Given the description of an element on the screen output the (x, y) to click on. 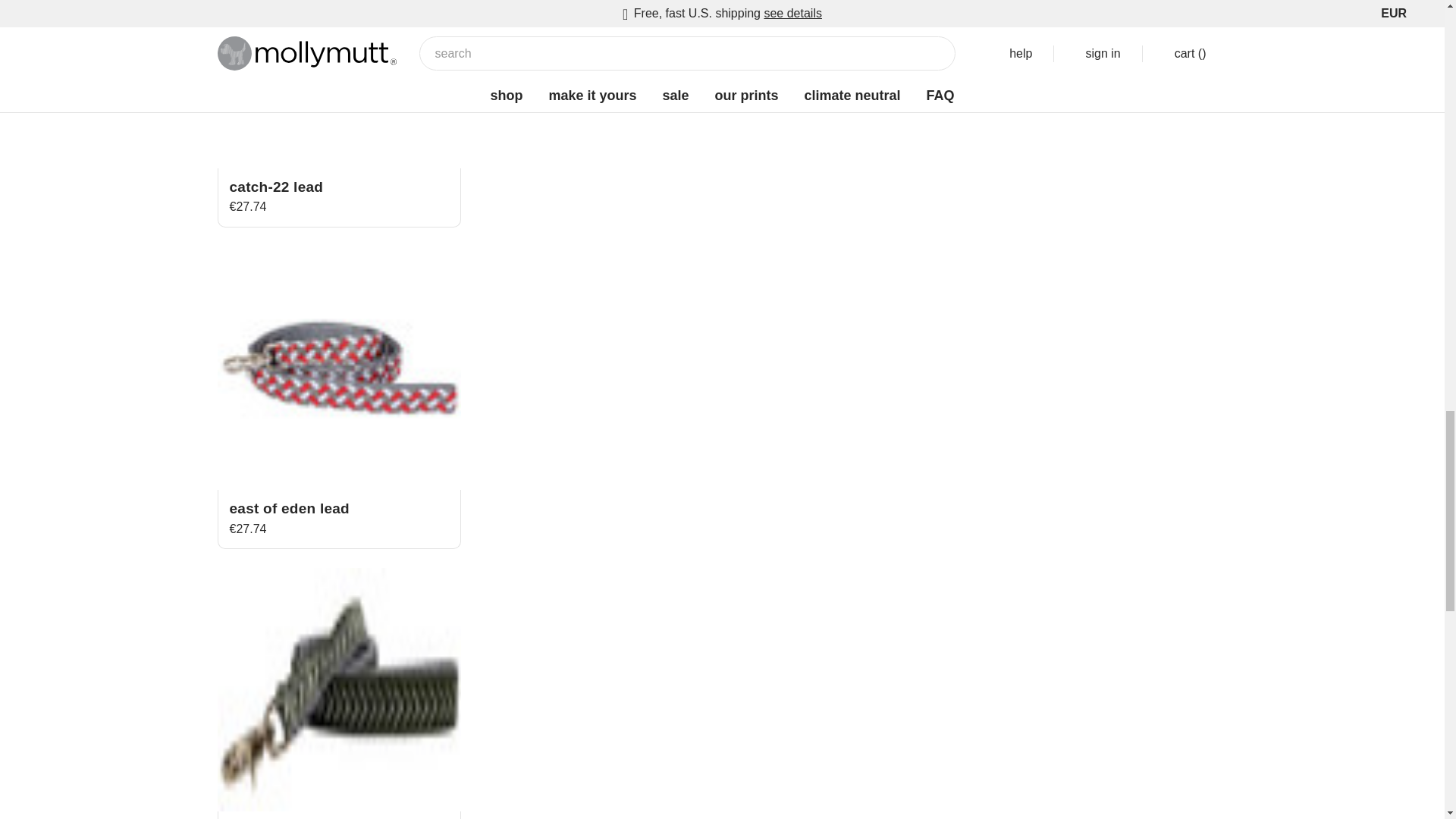
sula lead (338, 689)
east of eden lead (338, 367)
catch-22 lead (338, 84)
